Given the description of an element on the screen output the (x, y) to click on. 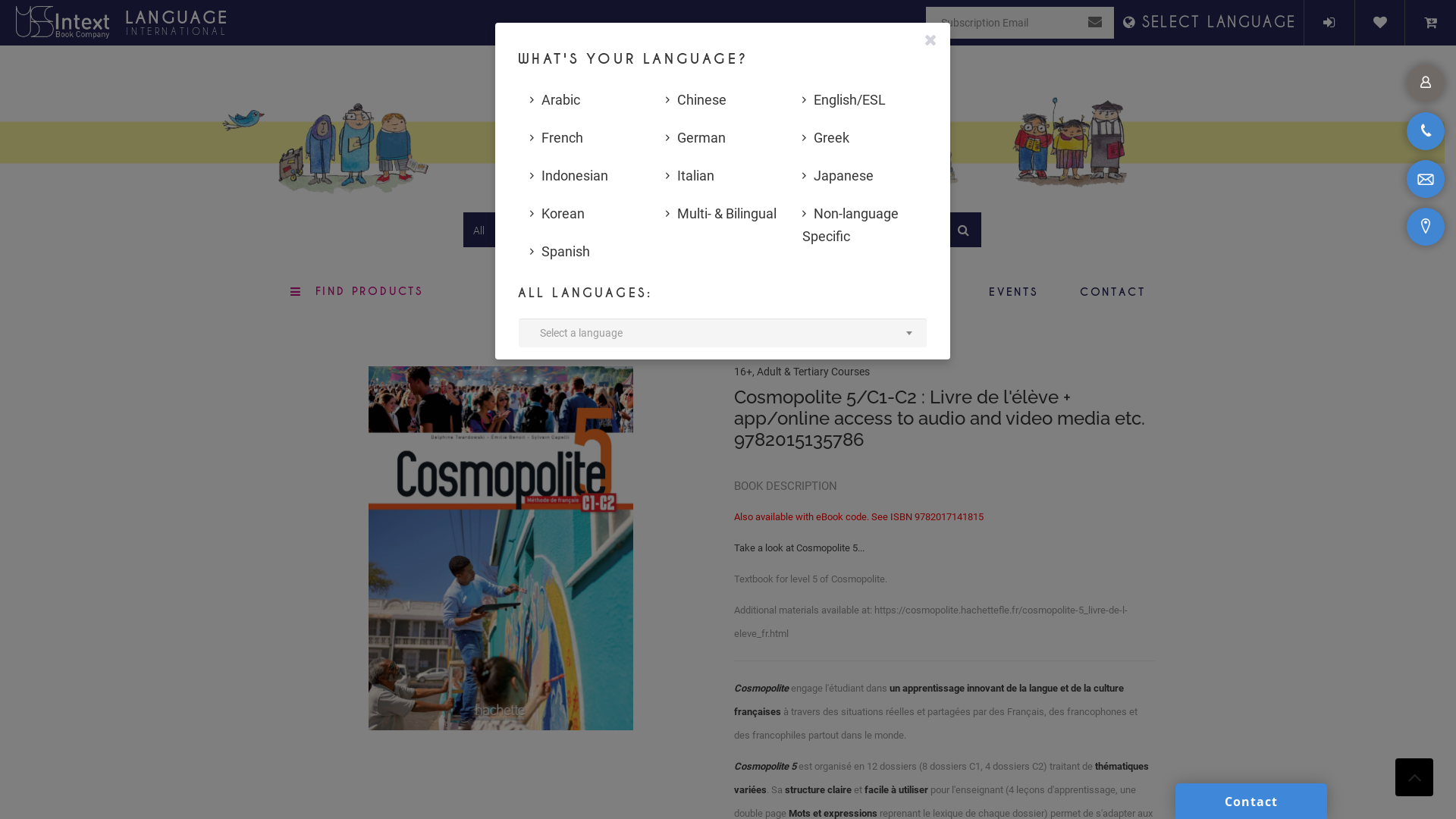
BROCHURES Element type: text (830, 291)
SELECT LANGUAGE Element type: text (1210, 22)
Wishlist Element type: hover (1380, 22)
BROWSE Element type: text (720, 291)
16+, Adult & Tertiary Courses Element type: text (801, 371)
NEWS Element type: text (929, 291)
EVENTS Element type: text (1013, 291)
CONTACT Element type: text (1112, 291)
HOME Element type: text (632, 291)
LANGUAGE
INTERNATIONAL Element type: text (177, 23)
Take a look at Cosmopolite 5...  Element type: text (800, 547)
Subscribe Element type: text (1094, 22)
